Given the description of an element on the screen output the (x, y) to click on. 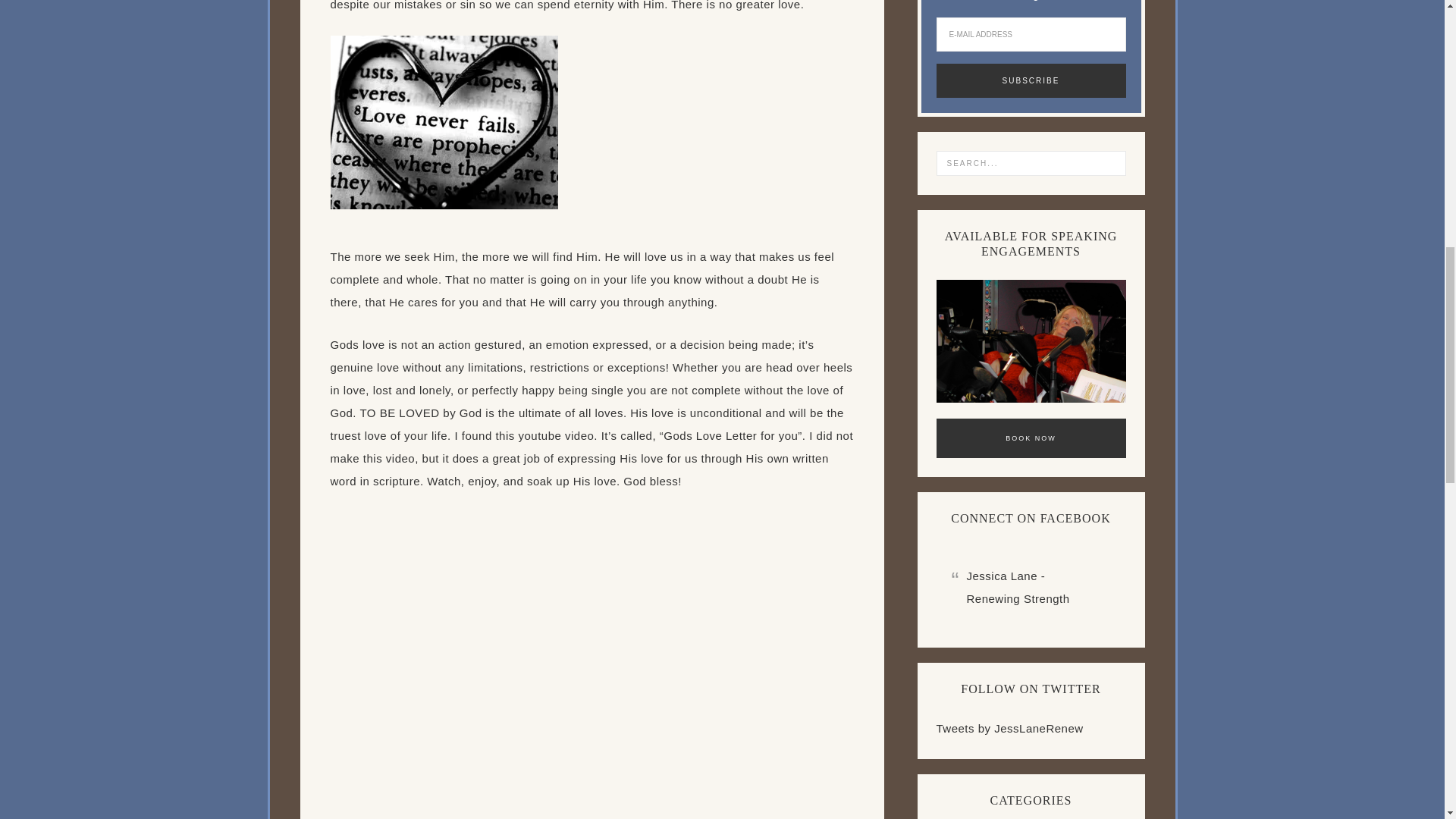
Subscribe (1030, 80)
BOOK NOW (1030, 437)
Jessica Lane - Renewing Strength (1017, 587)
Subscribe (1030, 80)
Tweets by JessLaneRenew (1009, 727)
